Given the description of an element on the screen output the (x, y) to click on. 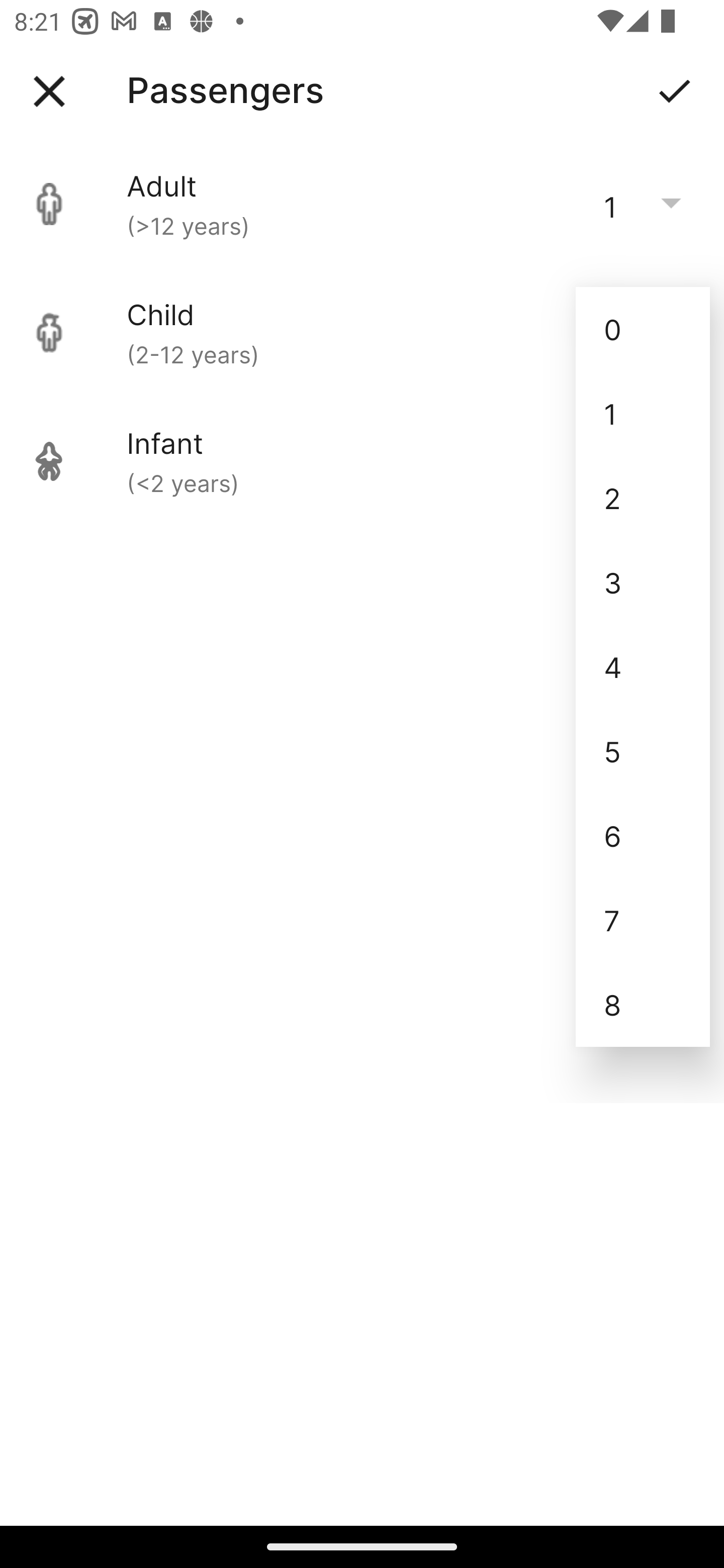
0 (642, 328)
1 (642, 413)
2 (642, 498)
3 (642, 582)
4 (642, 666)
5 (642, 750)
6 (642, 835)
7 (642, 920)
8 (642, 1004)
